Given the description of an element on the screen output the (x, y) to click on. 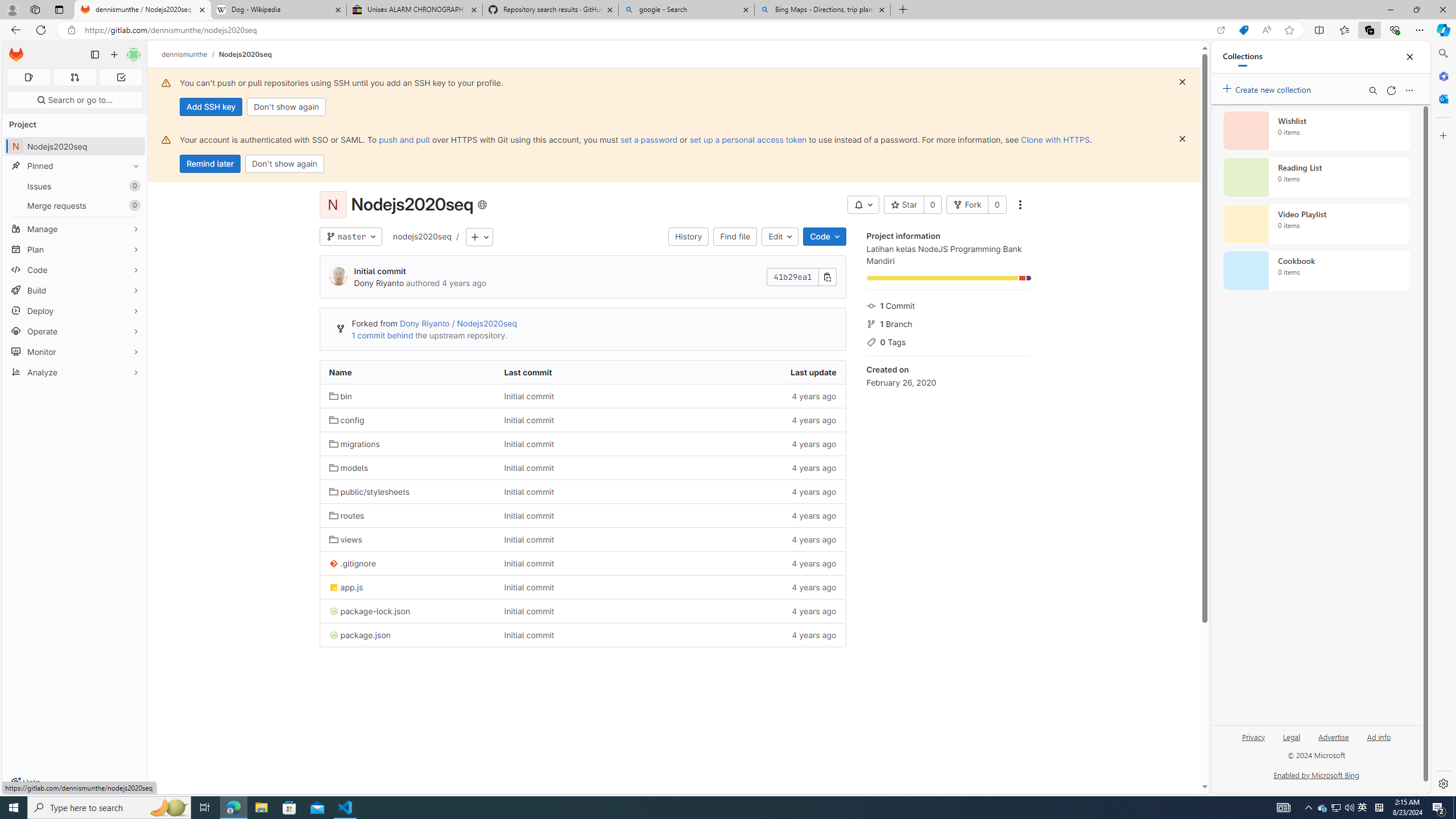
Plan (74, 248)
1 Branch (948, 322)
Build (74, 289)
Dog - Wikipedia (277, 9)
Add to tree (479, 236)
Code (824, 236)
Reading List collection, 0 items (1316, 177)
To-Do list 0 (120, 76)
Don't show again (284, 163)
package-lock.json (407, 610)
Fork (967, 204)
routes (346, 515)
